Given the description of an element on the screen output the (x, y) to click on. 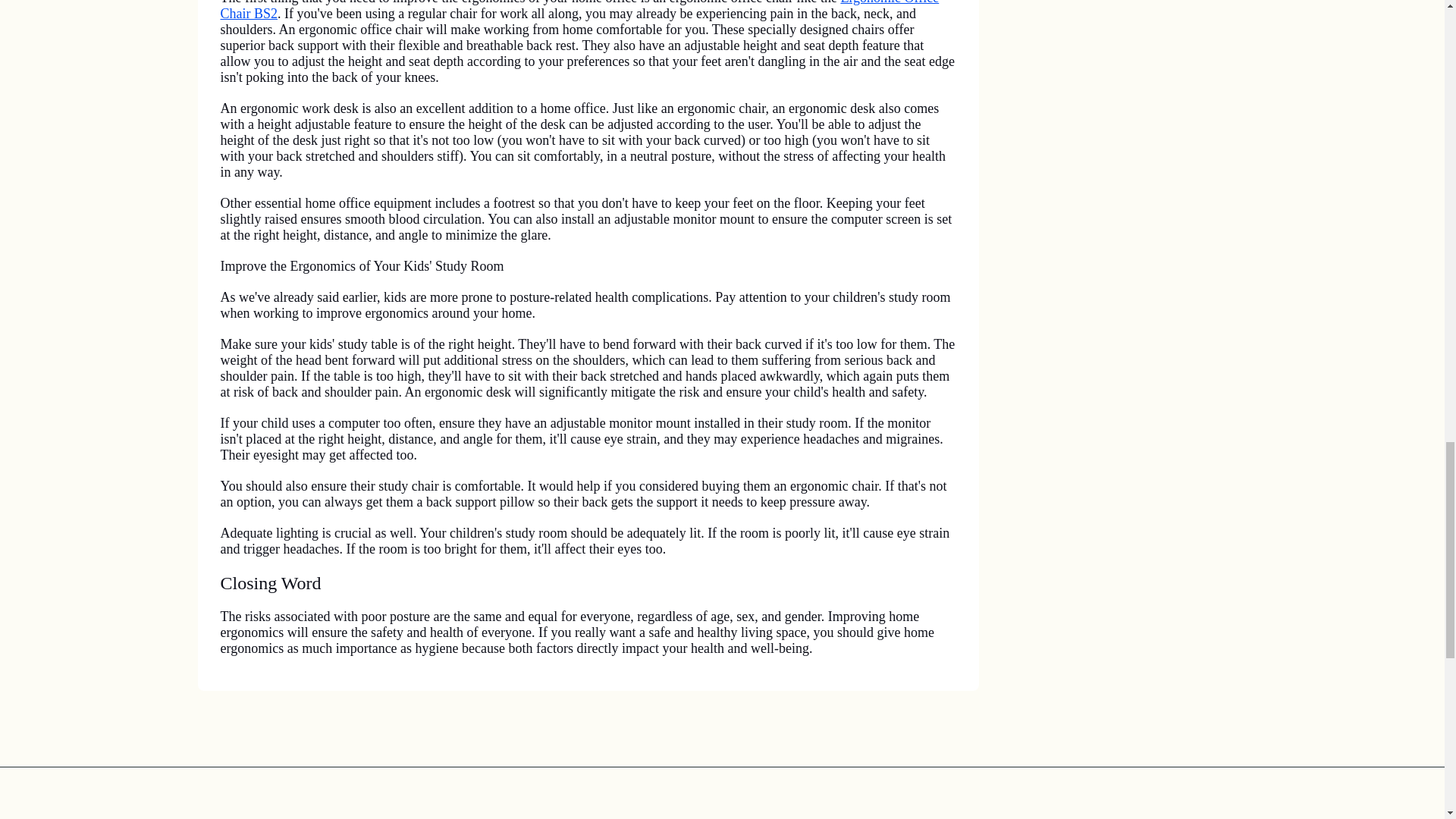
Ergonomic Office Chair BS2 (579, 10)
